Given the description of an element on the screen output the (x, y) to click on. 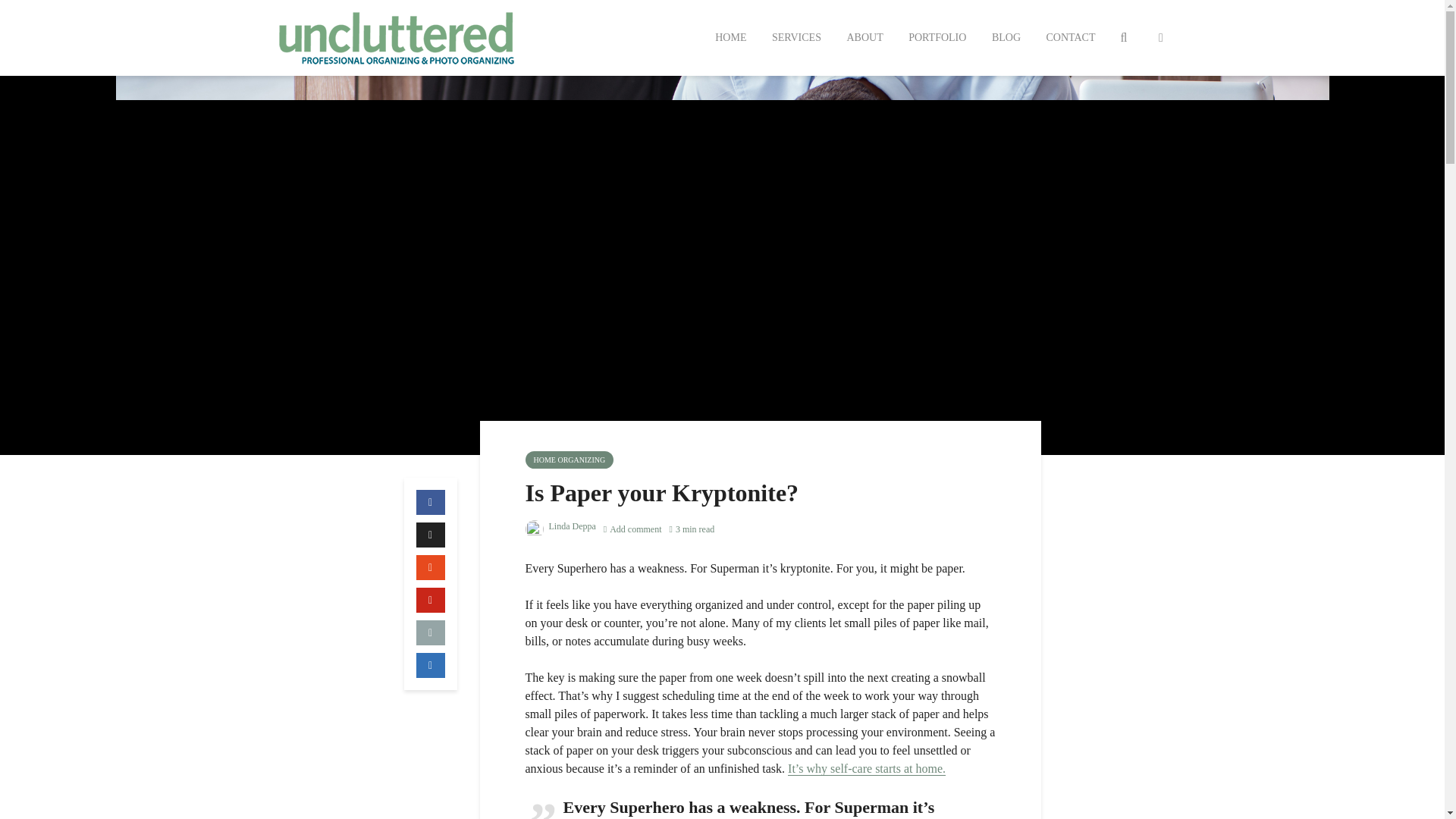
ABOUT (863, 37)
CONTACT (1069, 37)
SERVICES (796, 37)
BLOG (1005, 37)
HOME (730, 37)
PORTFOLIO (936, 37)
